Given the description of an element on the screen output the (x, y) to click on. 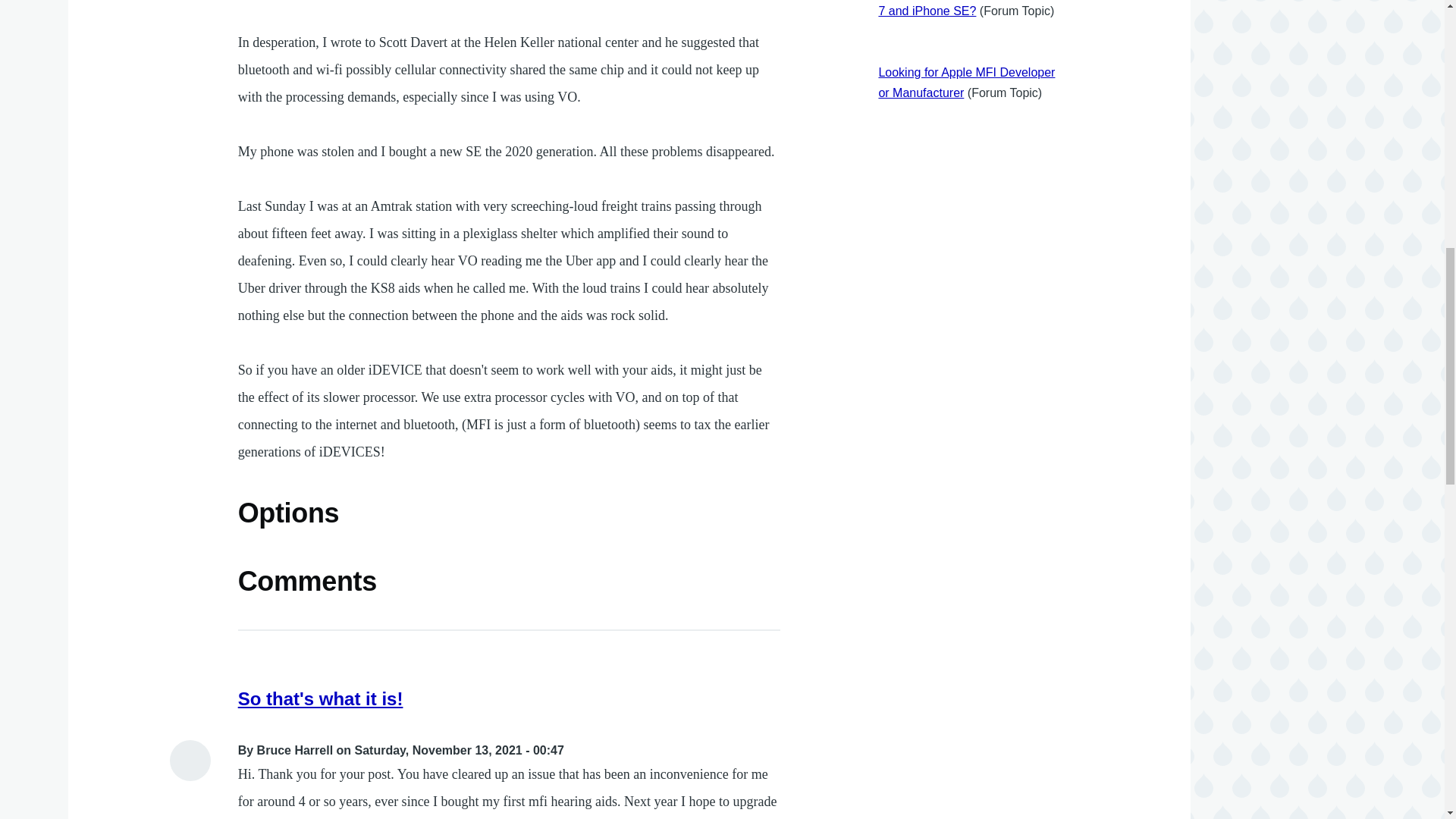
So that's what it is! (320, 698)
Looking for Apple MFI Developer or Manufacturer (965, 82)
Using mFI Hearing Aids with iPod 7 and iPhone SE? (967, 8)
